Given the description of an element on the screen output the (x, y) to click on. 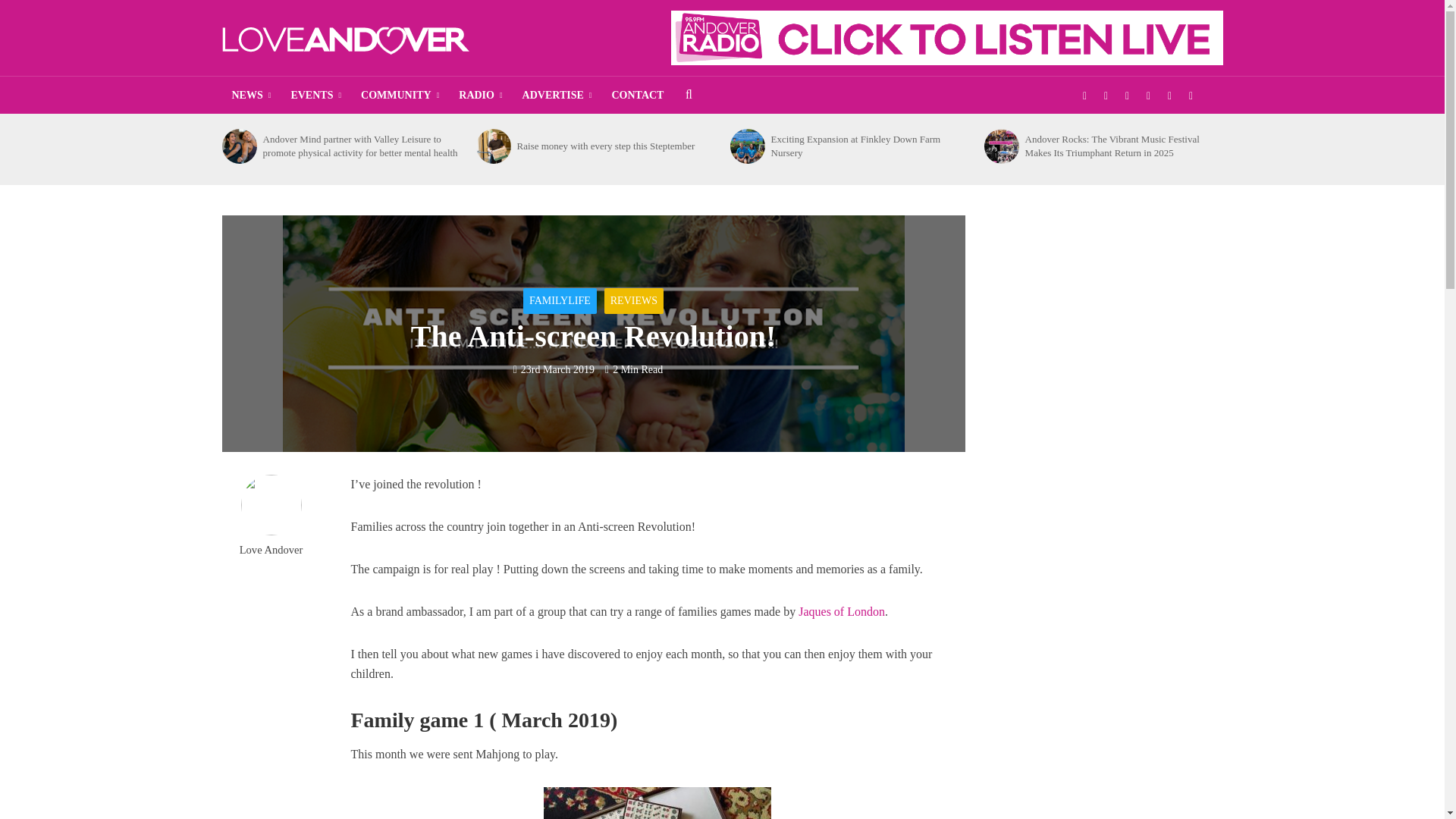
EVENTS (315, 95)
Exciting Expansion at Finkley Down Farm Nursery (745, 145)
COMMUNITY (399, 95)
NEWS (251, 95)
